Given the description of an element on the screen output the (x, y) to click on. 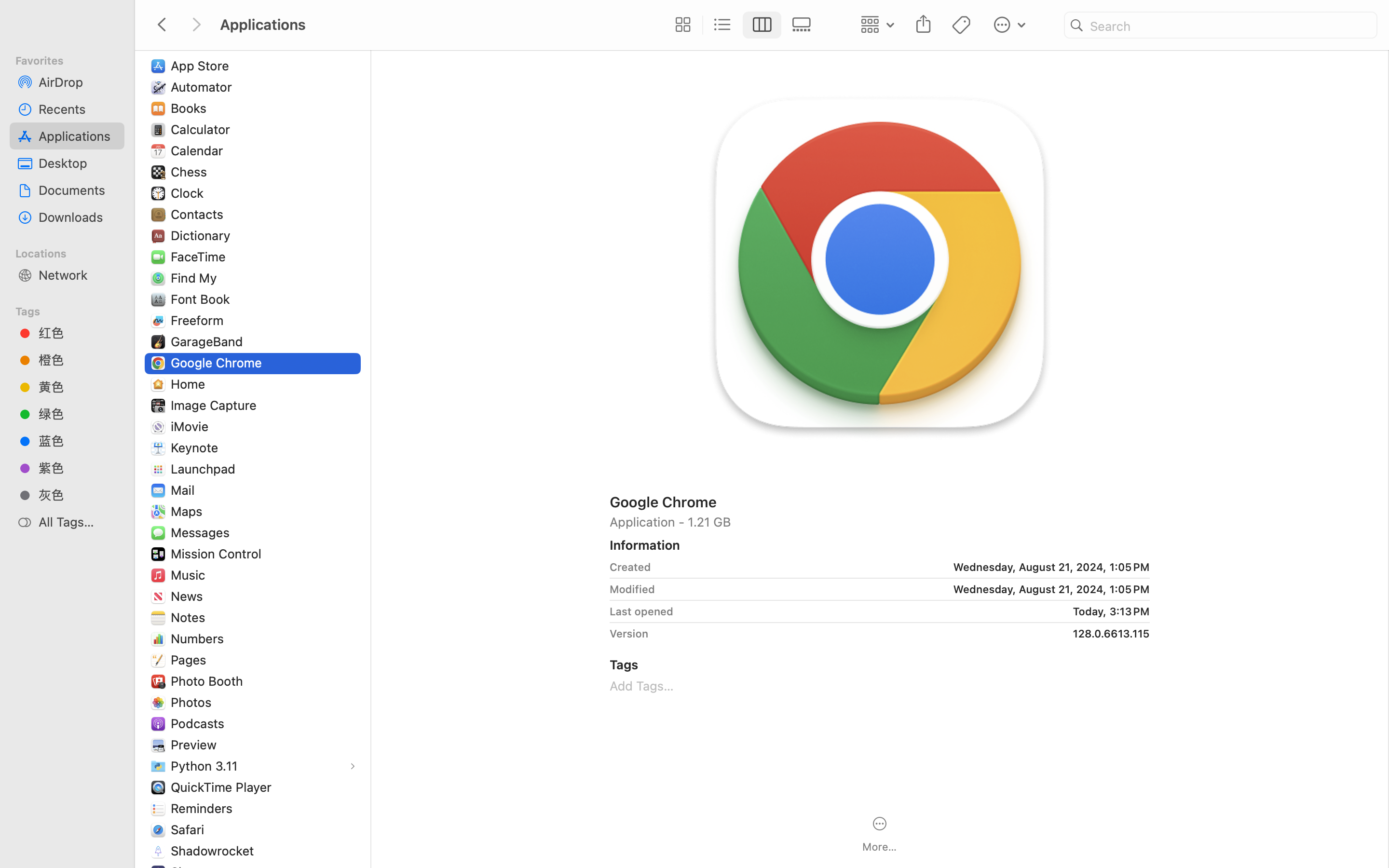
Recents Element type: AXStaticText (77, 108)
Dictionary Element type: AXTextField (202, 235)
紫色 Element type: AXStaticText (77, 467)
Created Element type: AXStaticText (630, 566)
Tags Element type: AXStaticText (72, 309)
